Given the description of an element on the screen output the (x, y) to click on. 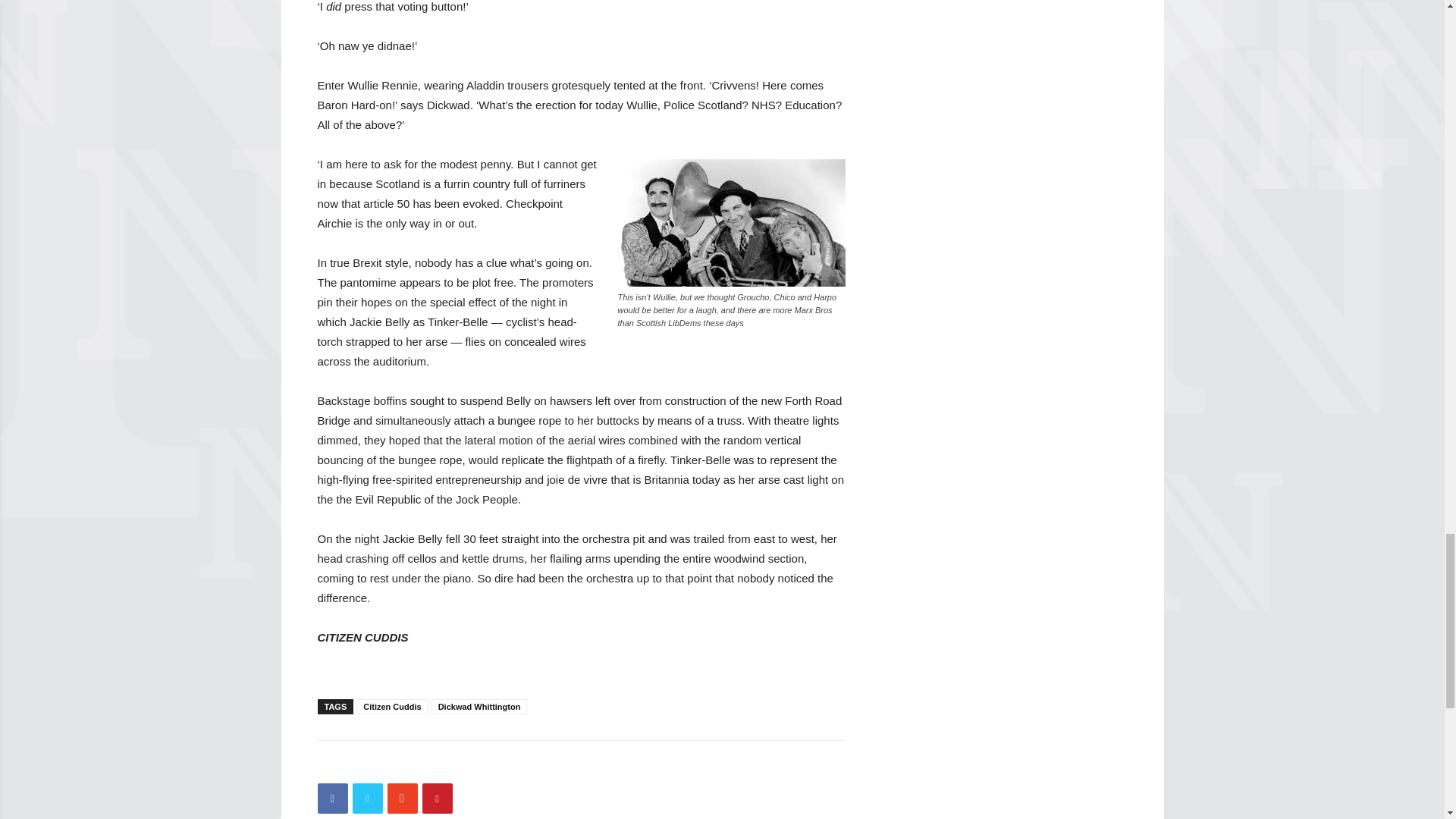
Citizen Cuddis (392, 706)
Dickwad Whittington (478, 706)
